Given the description of an element on the screen output the (x, y) to click on. 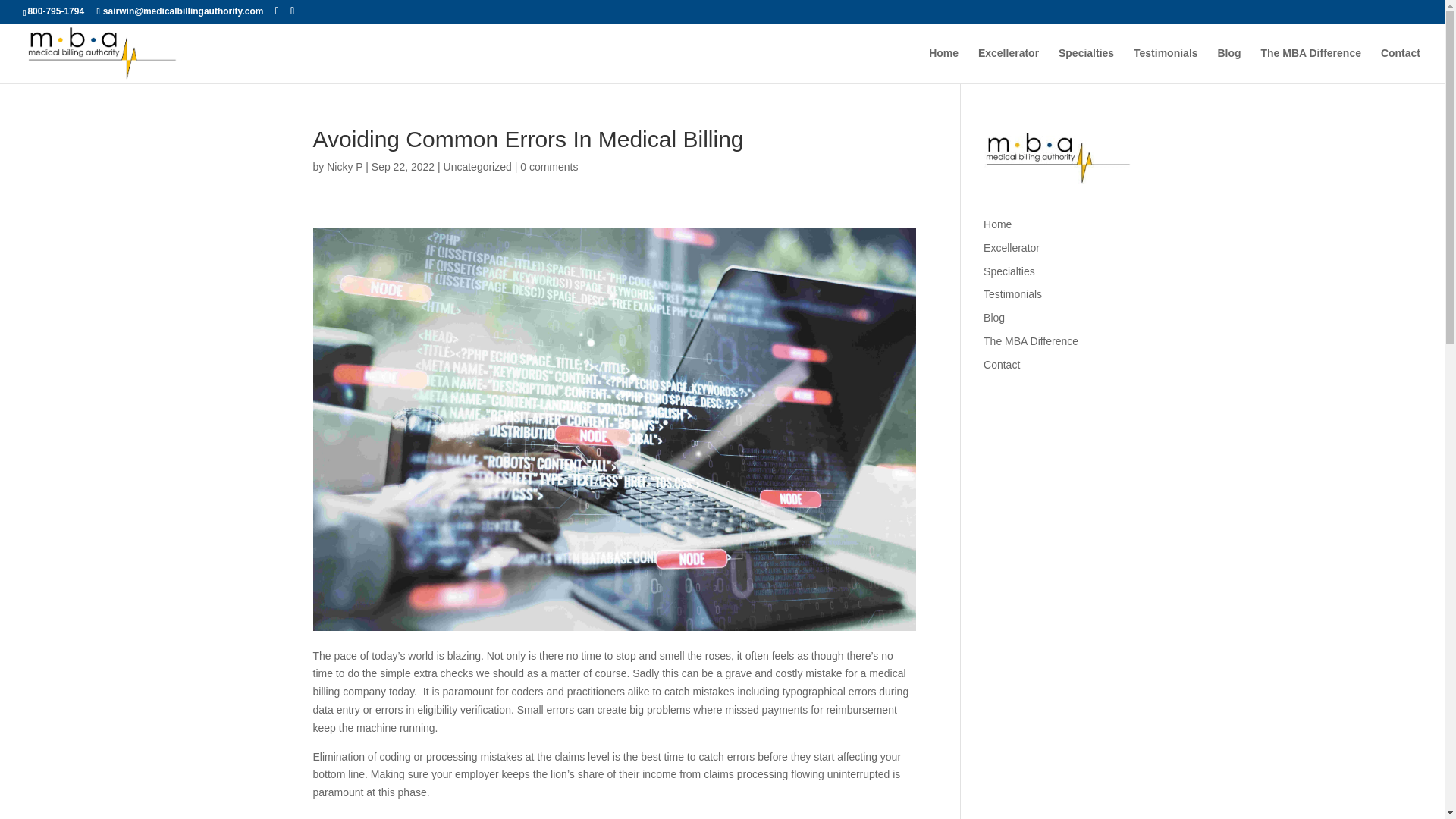
The MBA Difference (1310, 65)
Testimonials (1013, 294)
The MBA Difference (1031, 340)
Excellerator (1008, 65)
Contact (1400, 65)
Home (997, 224)
Blog (994, 317)
0 comments (548, 166)
Excellerator (1011, 247)
